Given the description of an element on the screen output the (x, y) to click on. 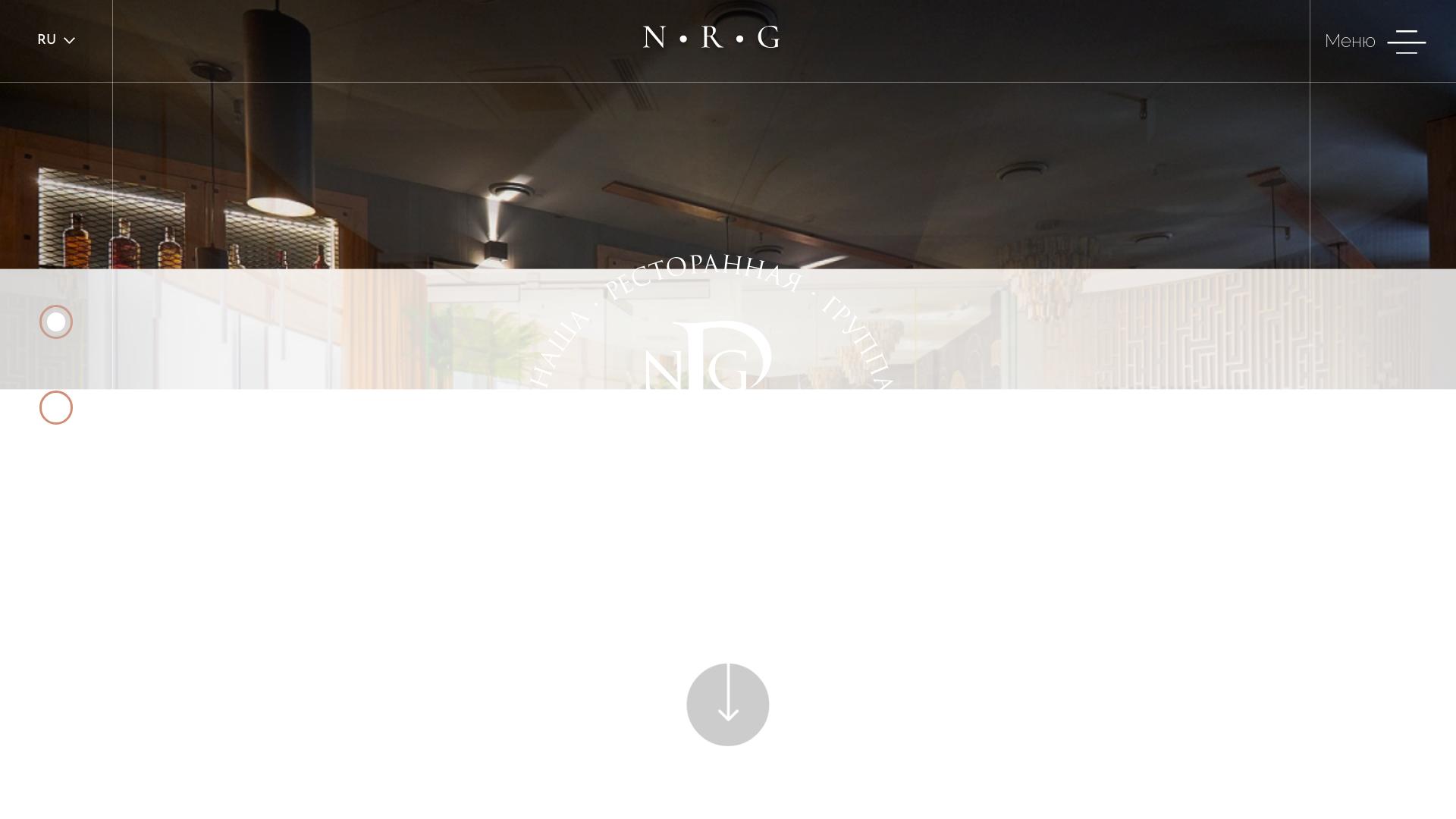
Mail Element type: text (1383, 450)
